Given the description of an element on the screen output the (x, y) to click on. 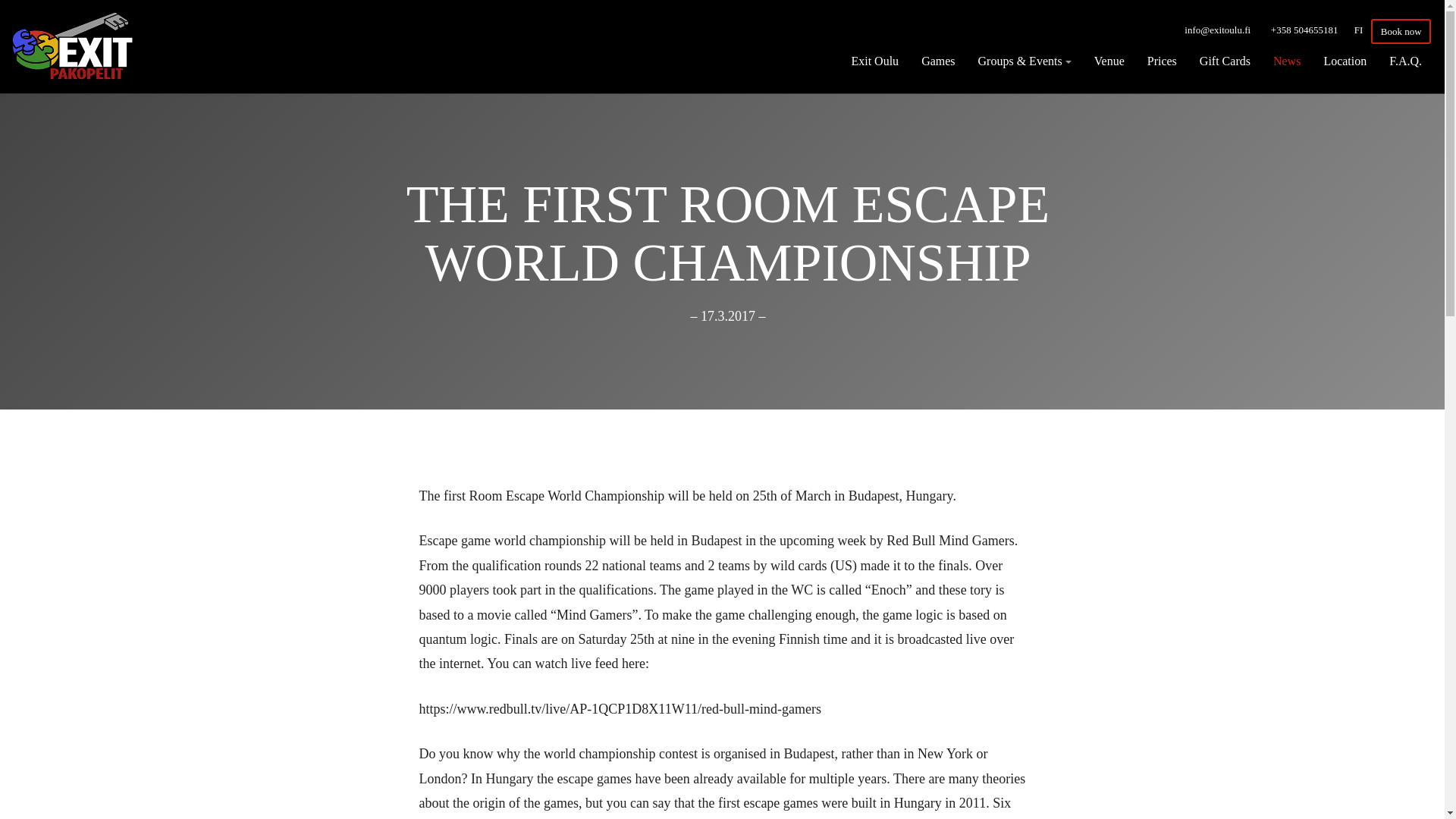
Book now (1401, 31)
Gift Cards (1225, 60)
Exit Oulu (875, 60)
Exit Oulu (875, 60)
News (1286, 60)
F.A.Q. (1404, 60)
Games (938, 60)
Games (938, 60)
Book now (1401, 31)
Prices (1161, 60)
Venue (1109, 60)
Location (1344, 60)
